Given the description of an element on the screen output the (x, y) to click on. 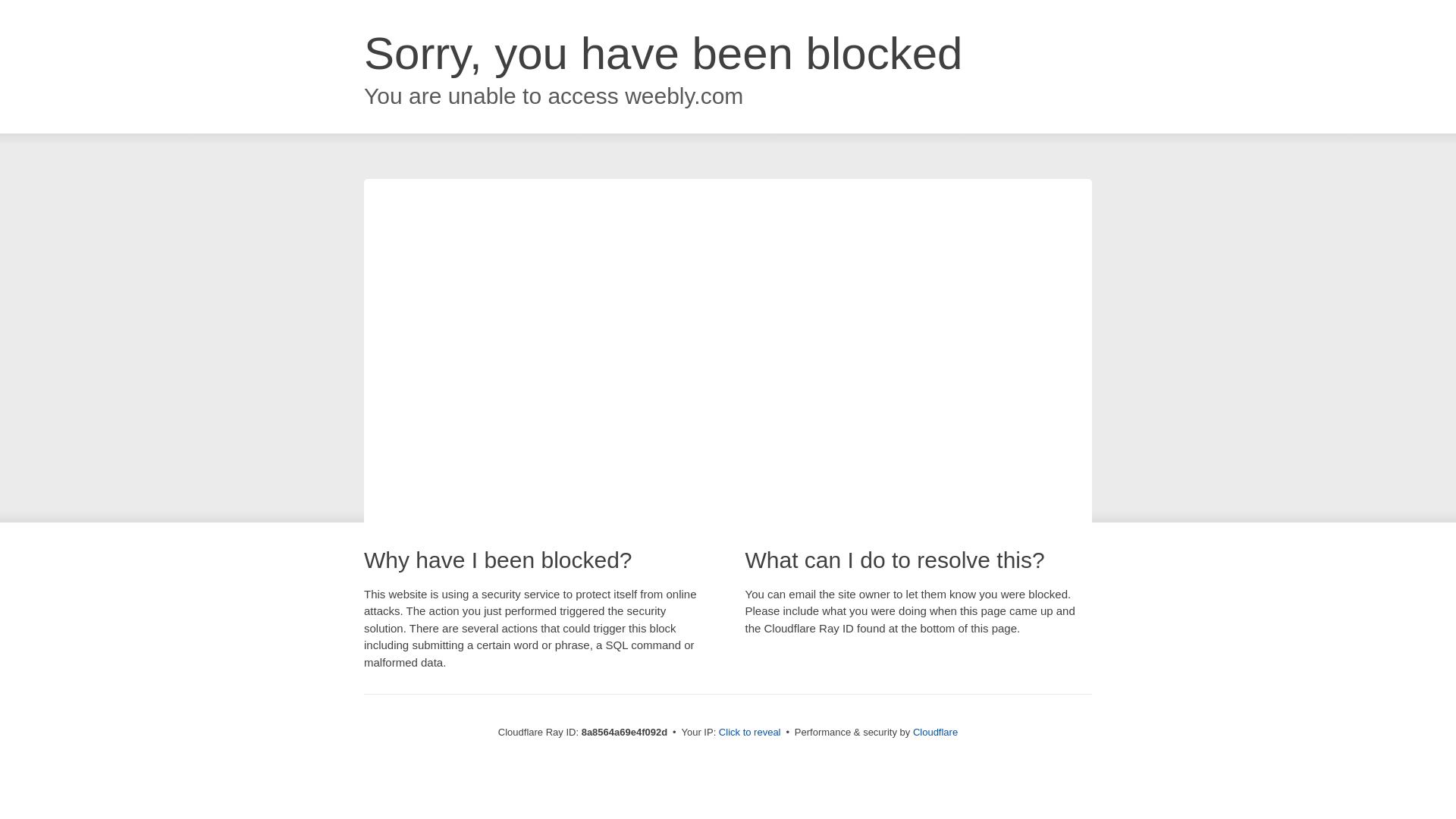
Cloudflare (935, 731)
Click to reveal (749, 732)
